Given the description of an element on the screen output the (x, y) to click on. 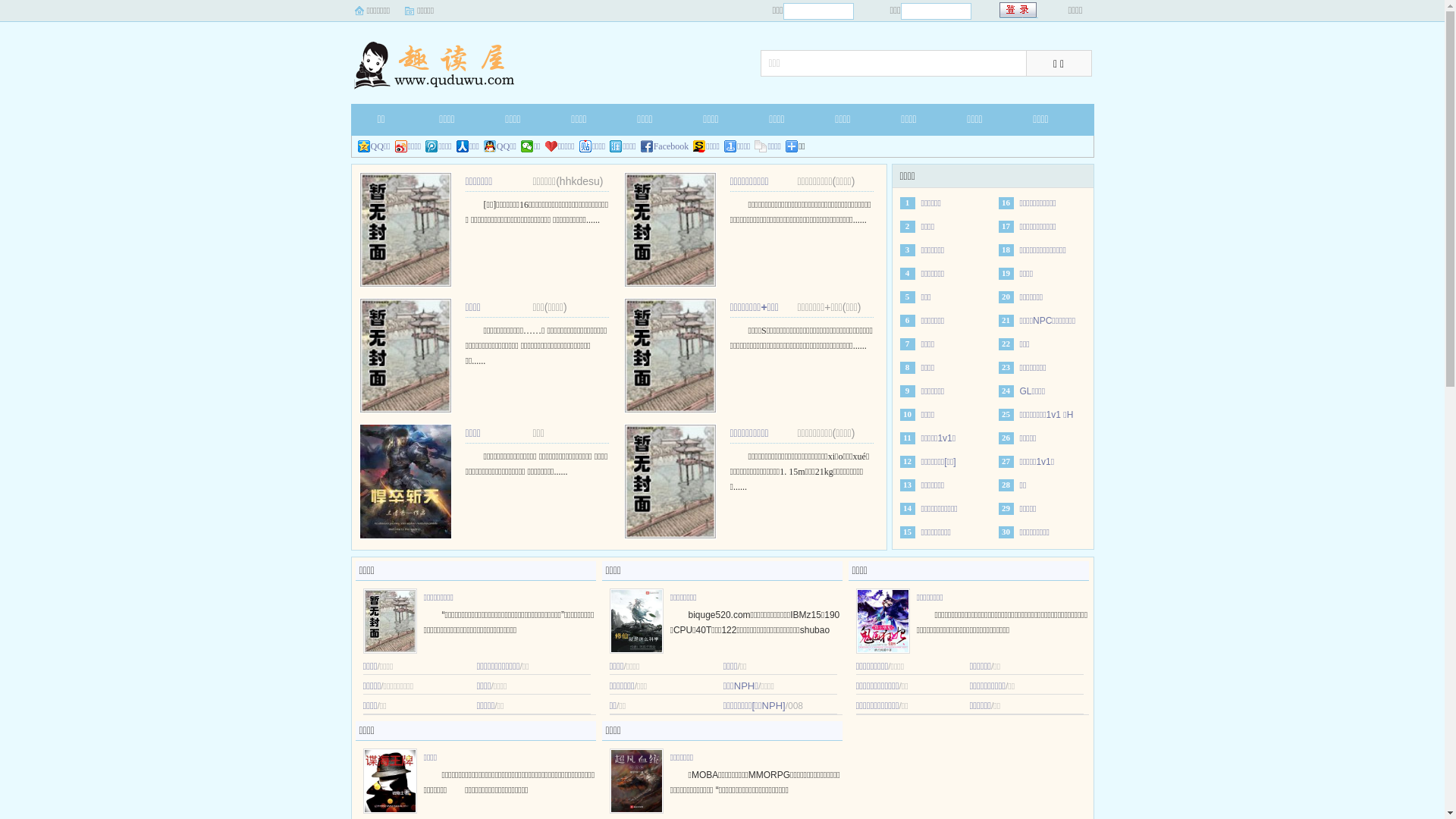
Facebook Element type: text (664, 146)
